Given the description of an element on the screen output the (x, y) to click on. 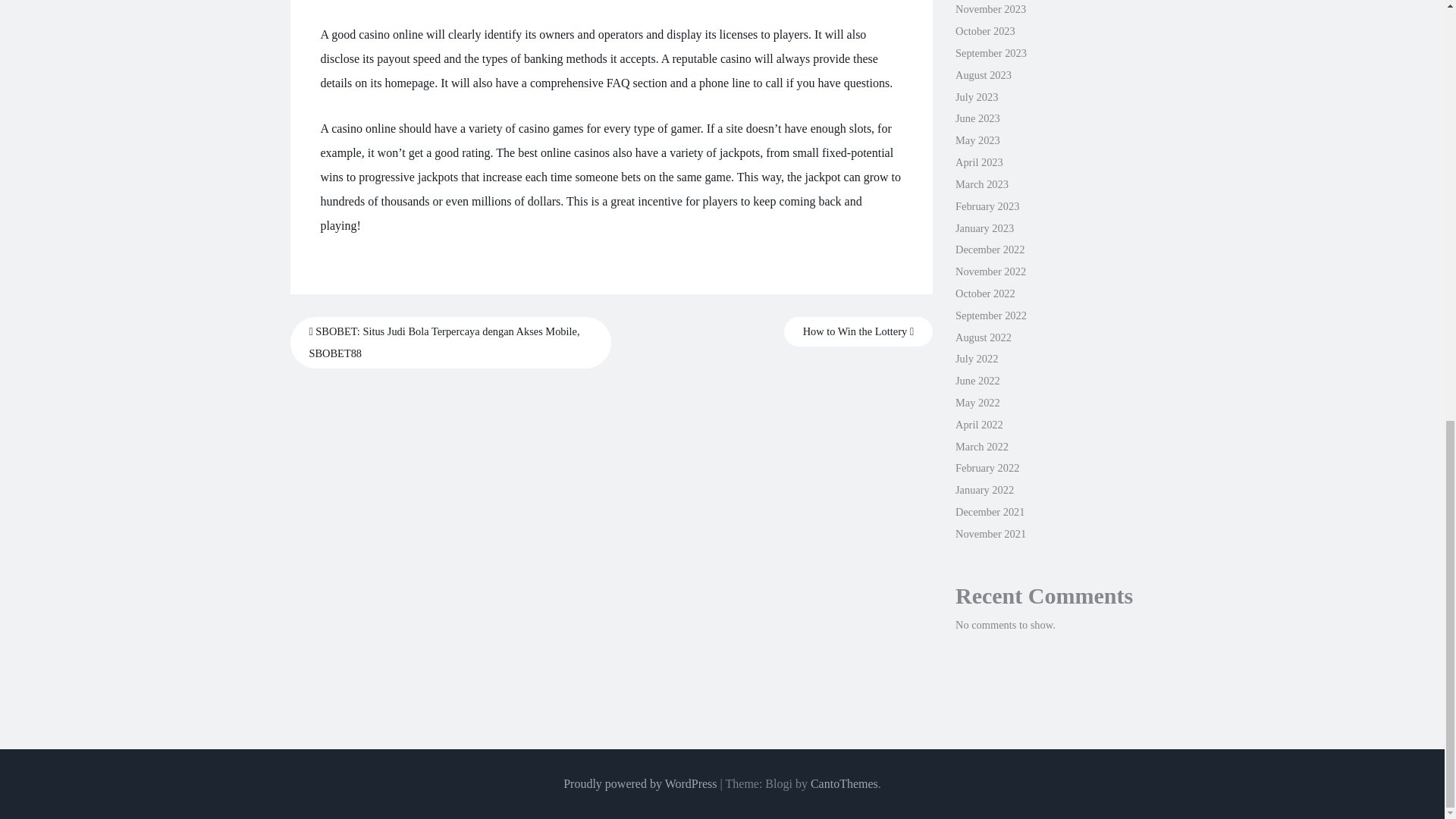
November 2022 (990, 271)
September 2023 (990, 52)
March 2023 (982, 184)
August 2023 (983, 74)
December 2022 (990, 249)
February 2023 (987, 205)
October 2022 (984, 293)
May 2023 (977, 140)
July 2023 (976, 96)
January 2023 (984, 227)
November 2023 (990, 9)
How to Win the Lottery (858, 331)
June 2023 (977, 118)
October 2023 (984, 30)
